Given the description of an element on the screen output the (x, y) to click on. 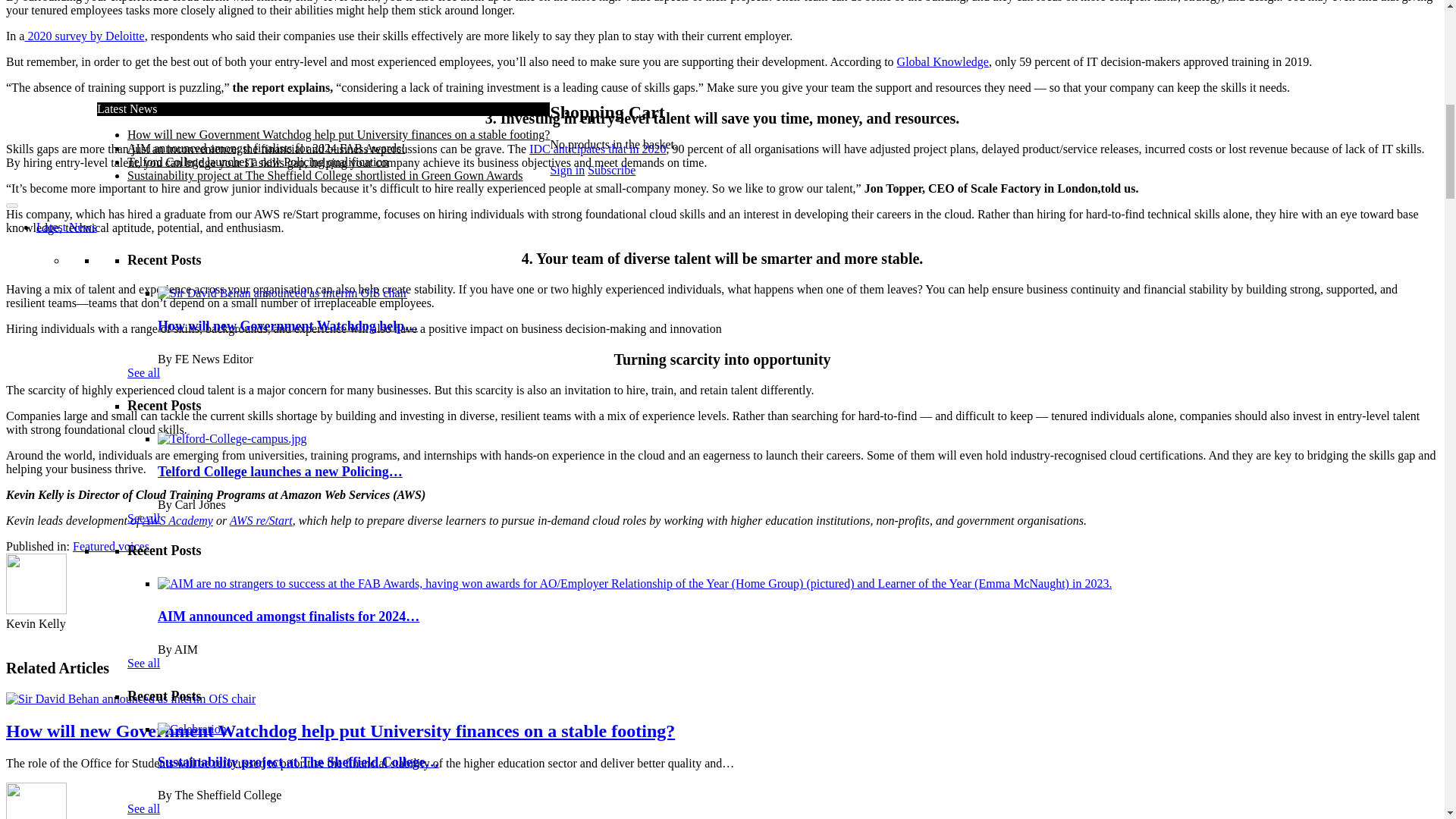
See all (144, 277)
Sign in (240, 117)
Subscribe (166, 117)
EdTech - News on Education Technology (228, 49)
Work and leadership (177, 76)
Exclusives (62, 131)
Skills and Apprenticeships - News and Insights (242, 90)
See all (144, 421)
